Given the description of an element on the screen output the (x, y) to click on. 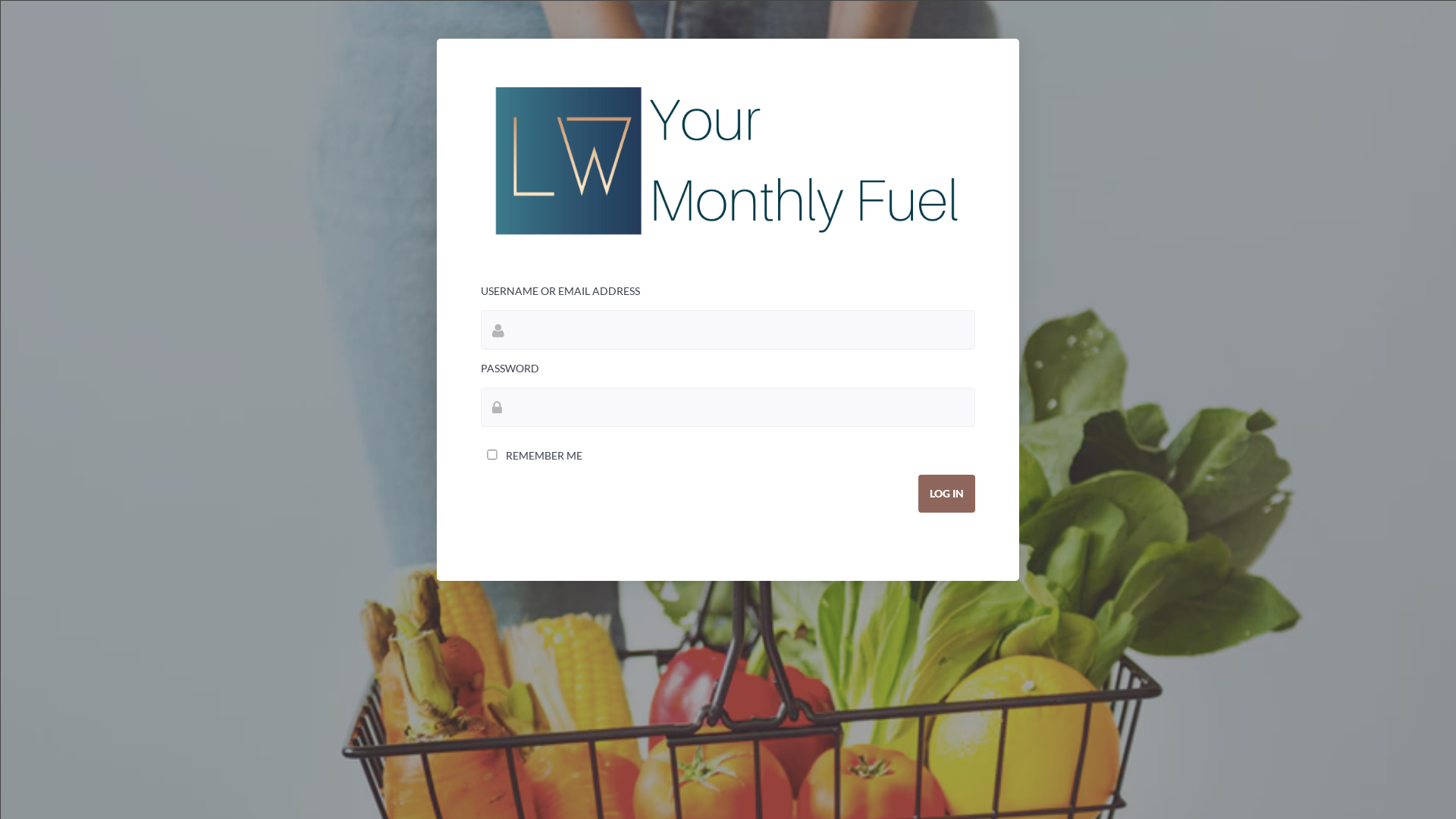
Log In Element type: text (946, 493)
